Given the description of an element on the screen output the (x, y) to click on. 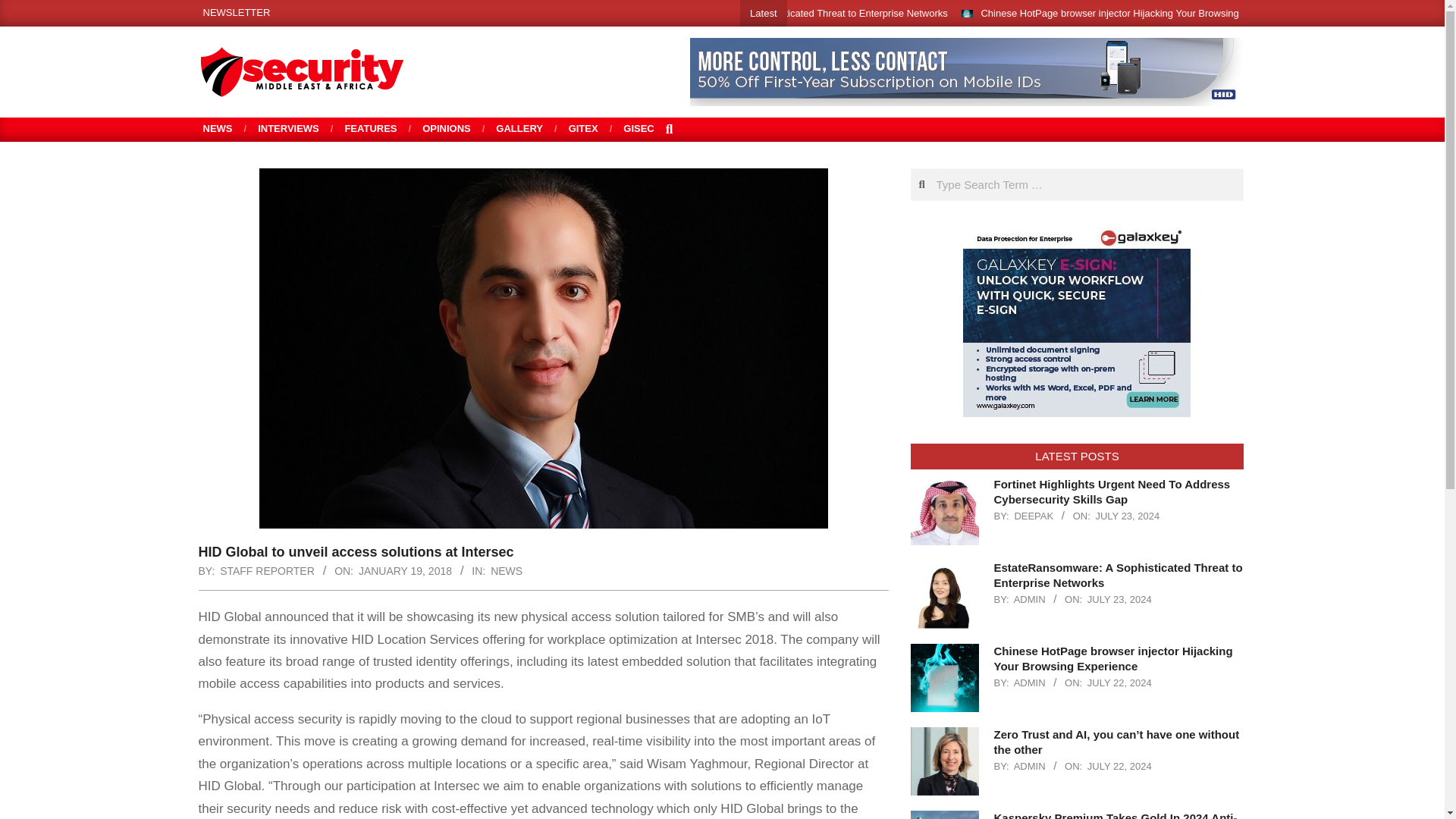
Posts by admin (1029, 682)
Monday, July 22, 2024, 3:39 pm (1119, 766)
Posts by admin (1029, 766)
Tuesday, July 23, 2024, 11:44 am (1126, 515)
Posts by Staff Reporter (266, 571)
Monday, July 22, 2024, 3:59 pm (1119, 682)
Posts by Deepak (1032, 515)
Friday, January 19, 2018, 12:35 pm (404, 571)
NEWSLETTER (236, 12)
Tuesday, July 23, 2024, 10:02 am (1119, 599)
Posts by admin (1029, 599)
